Given the description of an element on the screen output the (x, y) to click on. 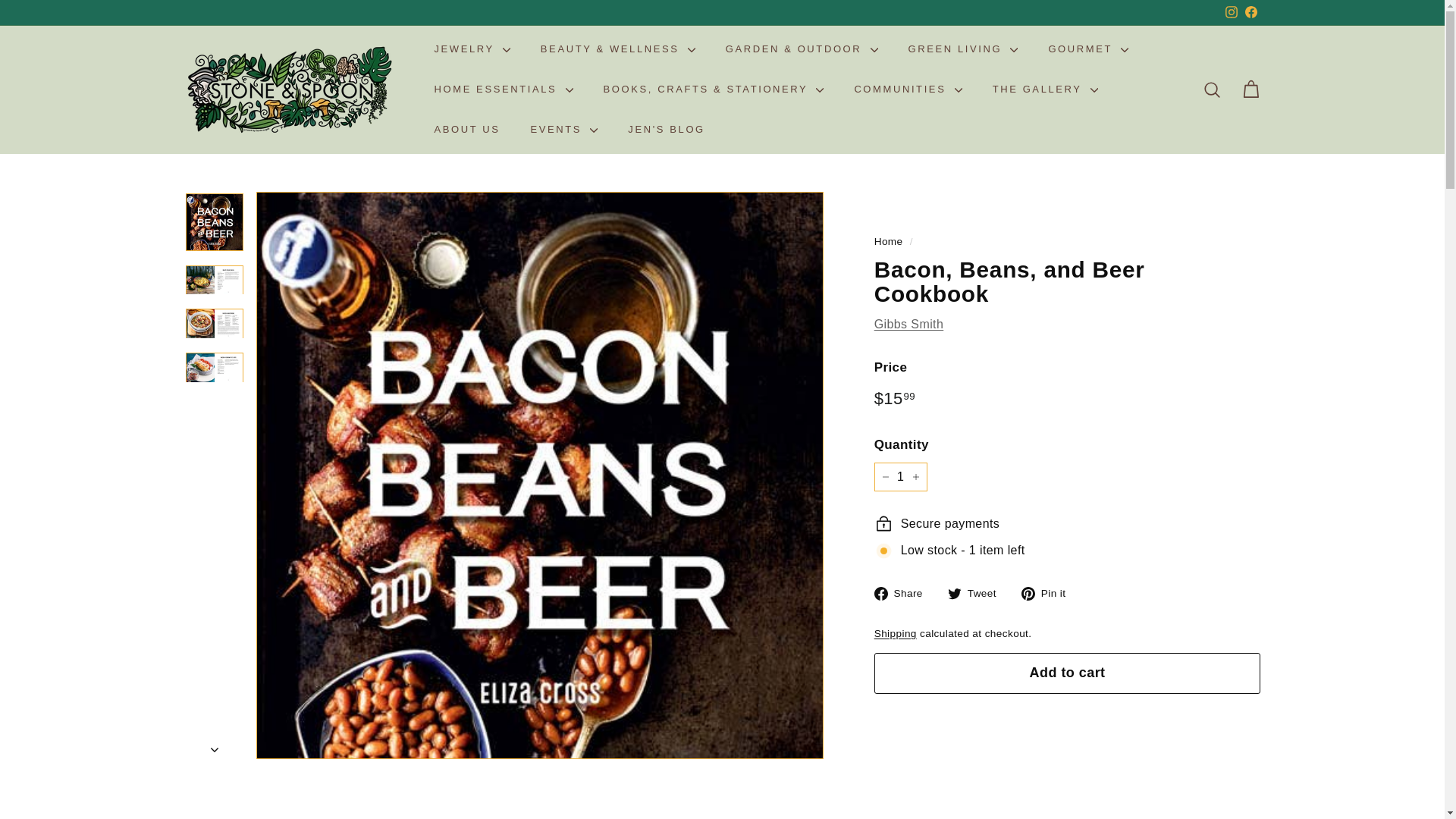
1 (901, 476)
Gibbs Smith (909, 323)
icon-chevron (214, 749)
Pin on Pinterest (1049, 592)
twitter (953, 593)
instagram (1231, 11)
Back to the frontpage (888, 241)
Share on Facebook (904, 592)
Tweet on Twitter (977, 592)
